Given the description of an element on the screen output the (x, y) to click on. 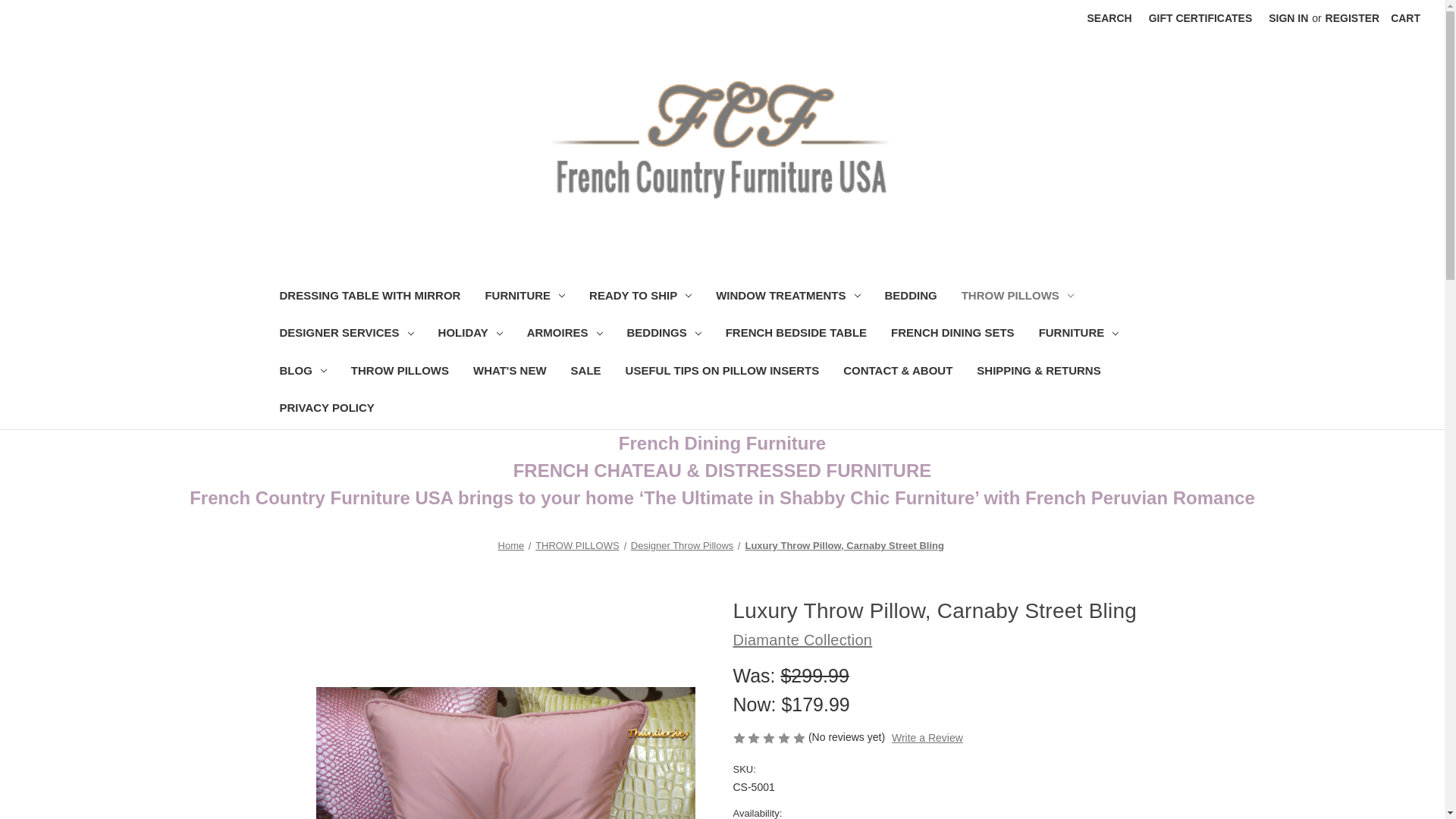
FURNITURE (523, 297)
WINDOW TREATMENTS (787, 297)
DRESSING TABLE WITH MIRROR (368, 297)
BEDDING (910, 297)
THROW PILLOWS (1017, 297)
SEARCH (1109, 18)
French Country Furniture USA (722, 139)
READY TO SHIP (639, 297)
CART (1404, 18)
